Given the description of an element on the screen output the (x, y) to click on. 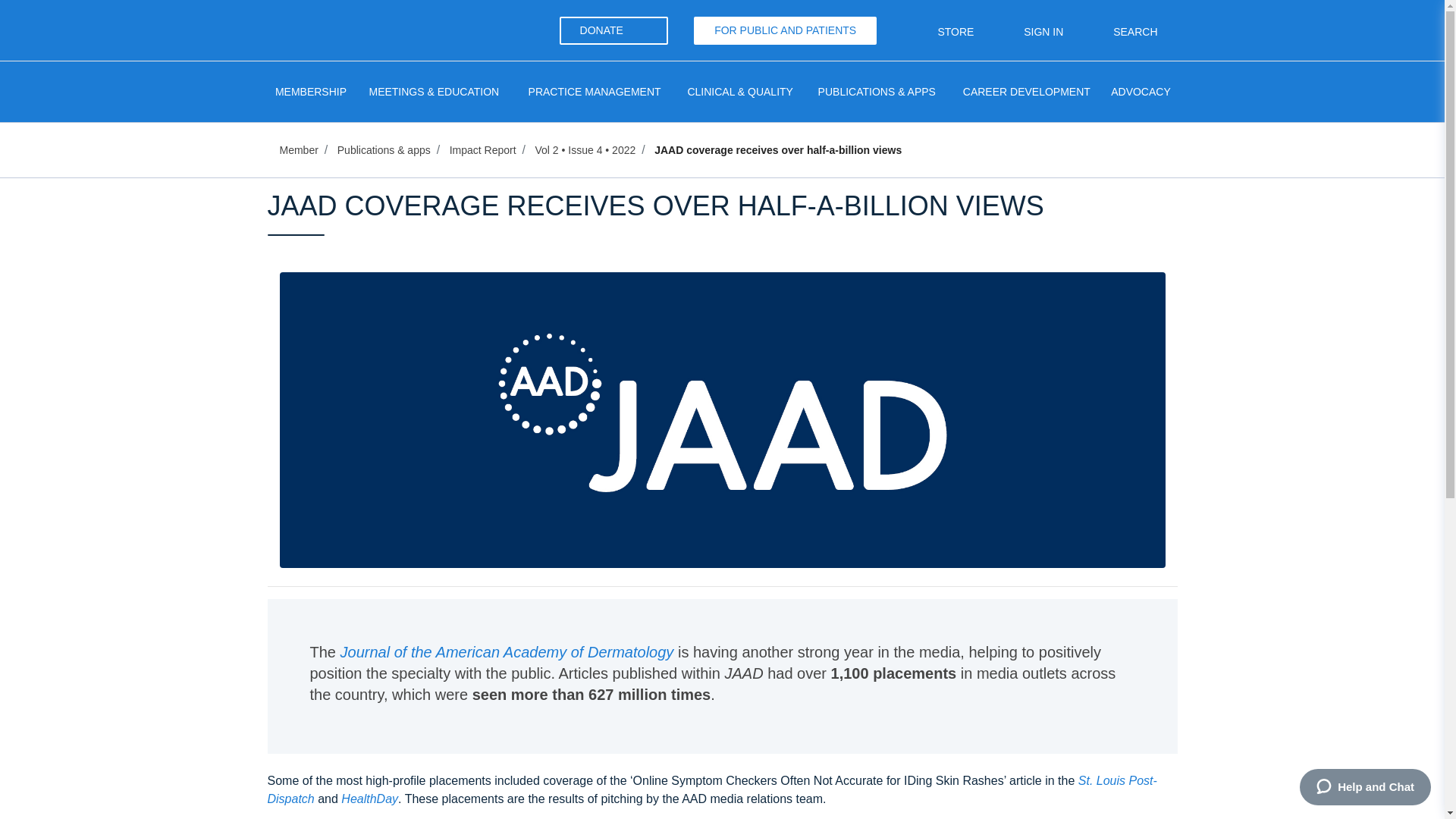
Go to AAD Home (336, 29)
SIGN IN (1030, 31)
STORE (943, 31)
PRACTICE MANAGEMENT (594, 91)
ADVOCACY (1139, 91)
CAREER DEVELOPMENT (1026, 91)
DONATE (613, 30)
FOR PUBLIC AND PATIENTS (785, 30)
SEARCH (1121, 31)
MEMBERSHIP (309, 91)
